Given the description of an element on the screen output the (x, y) to click on. 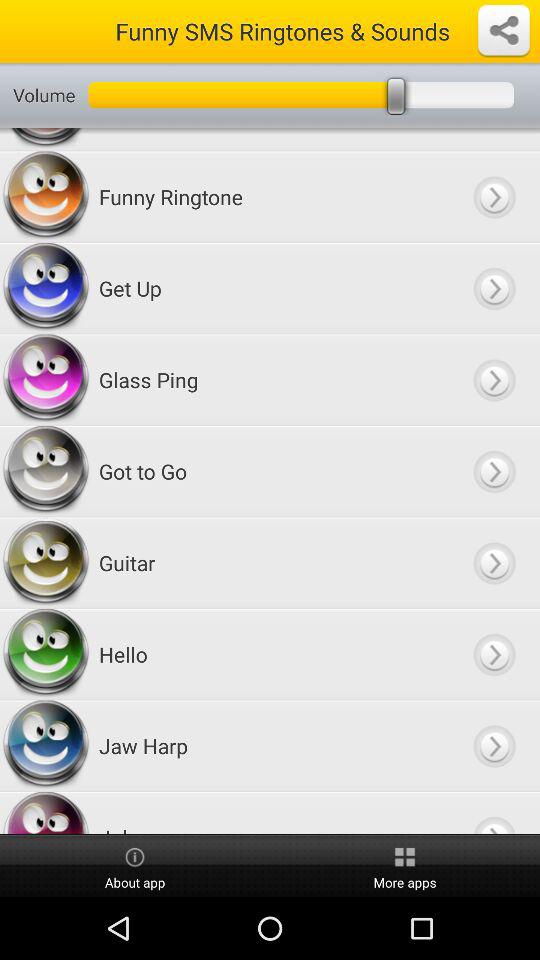
play option (494, 288)
